Given the description of an element on the screen output the (x, y) to click on. 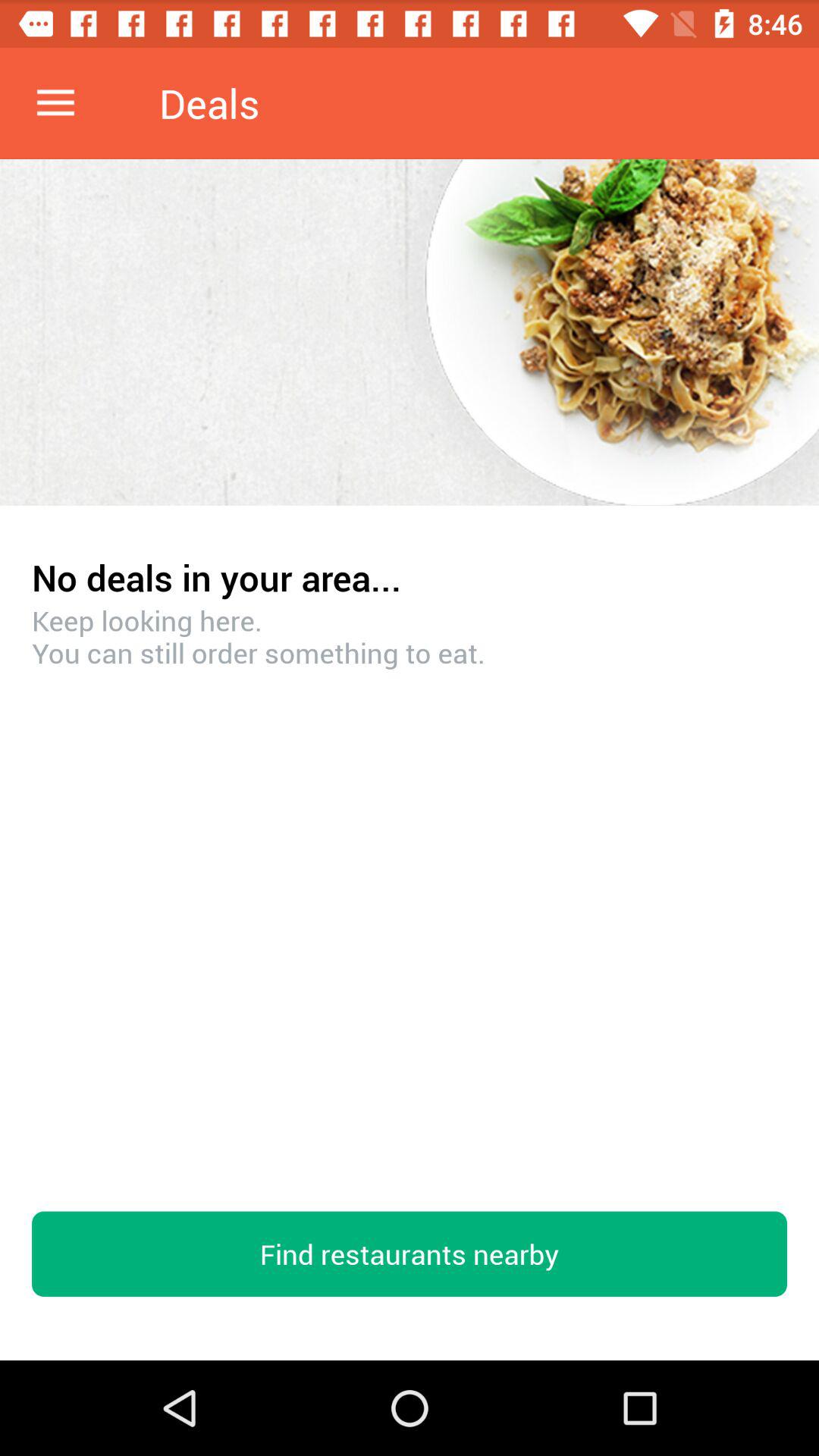
turn on item to the left of the deals item (55, 103)
